Given the description of an element on the screen output the (x, y) to click on. 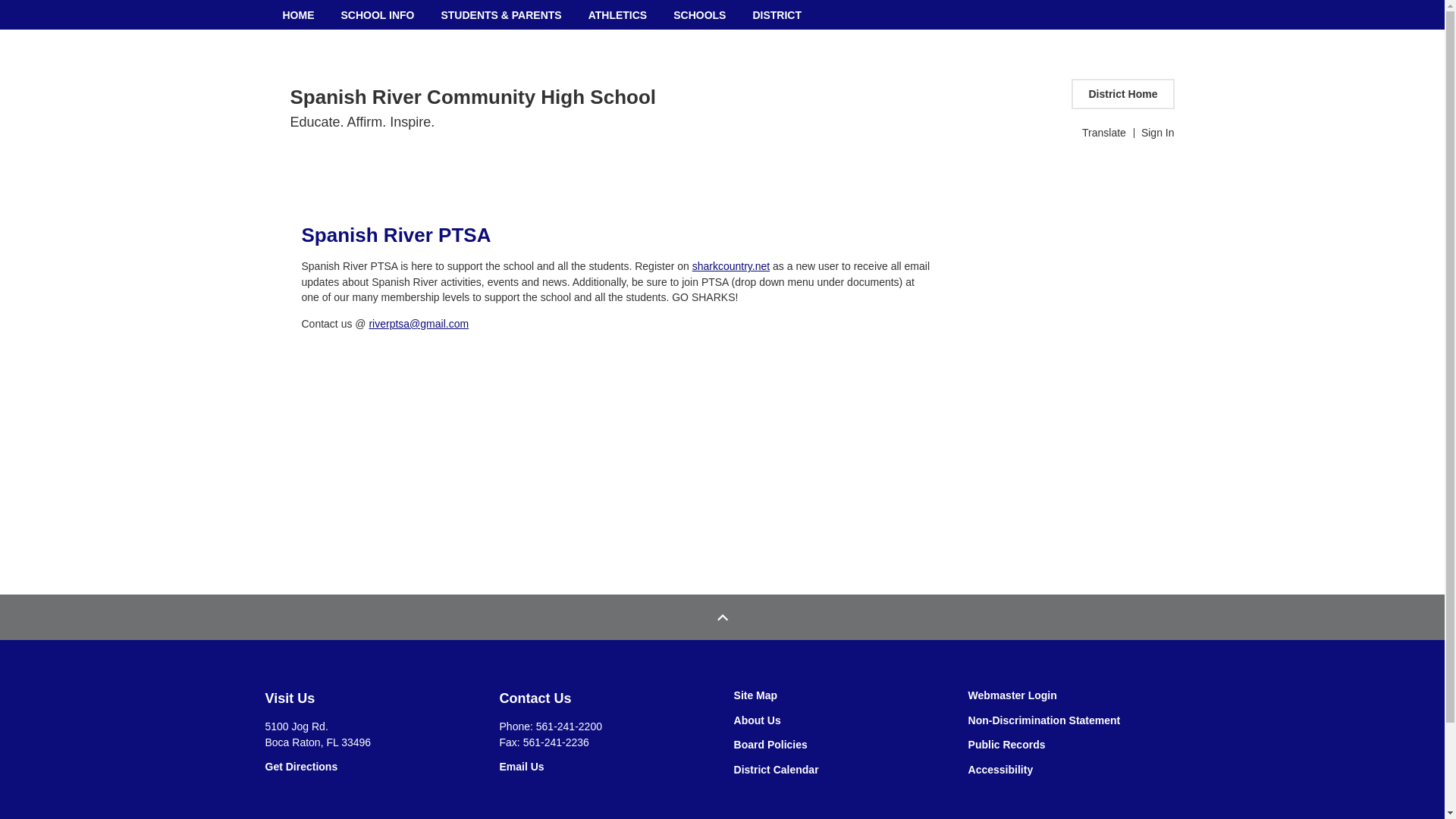
SCHOOL INFO (377, 14)
District Home (1122, 93)
DISTRICT (776, 14)
ATHLETICS (617, 14)
HOME (298, 14)
SCHOOLS (699, 14)
